Given the description of an element on the screen output the (x, y) to click on. 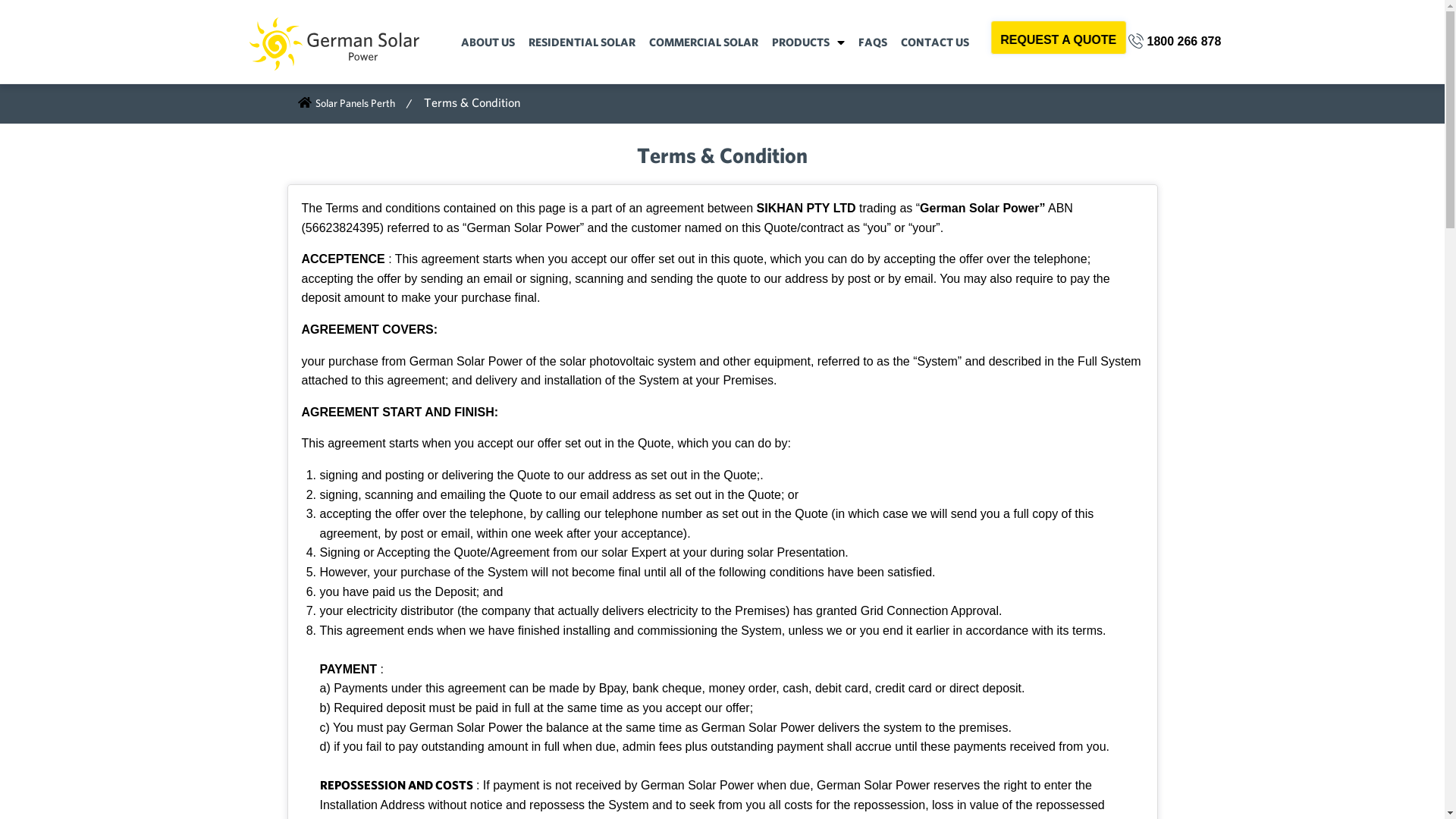
PRODUCTS Element type: text (807, 42)
Solar Panels Perth Element type: text (345, 102)
1800 266 878 Element type: text (1174, 41)
RESIDENTIAL SOLAR Element type: text (581, 42)
COMMERCIAL SOLAR Element type: text (703, 42)
FAQS Element type: text (872, 42)
ABOUT US Element type: text (487, 42)
CONTACT US Element type: text (934, 42)
REQUEST A QUOTE Element type: text (1058, 37)
